Given the description of an element on the screen output the (x, y) to click on. 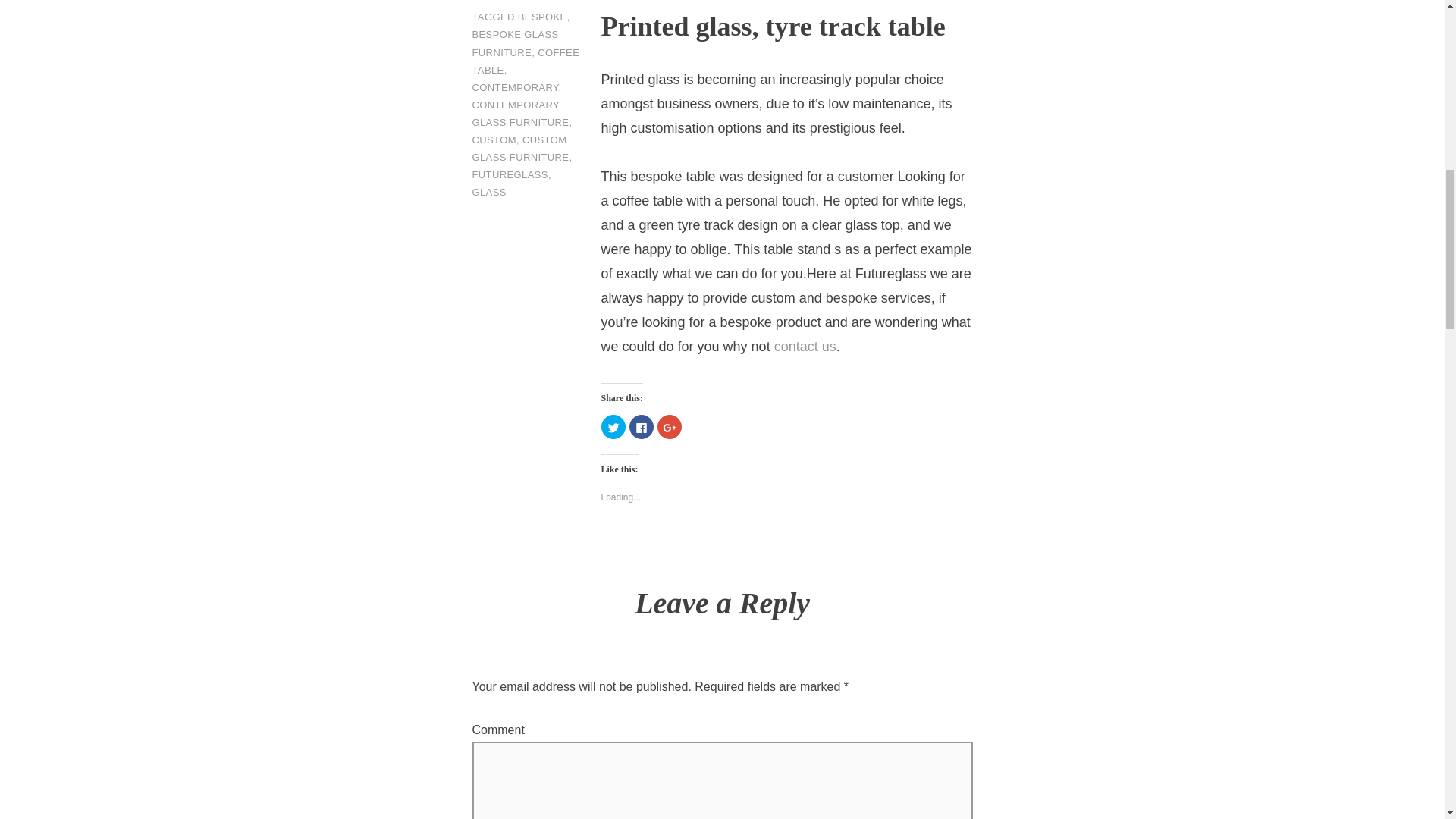
BESPOKE (542, 16)
CUSTOM (493, 139)
CONTEMPORARY GLASS FURNITURE (520, 113)
GLASS (488, 192)
CONTEMPORARY (514, 87)
Click to share on Facebook (640, 426)
FUTUREGLASS (509, 174)
contact us (804, 347)
CUSTOM GLASS FURNITURE (520, 148)
Click to share on Twitter (611, 426)
